Given the description of an element on the screen output the (x, y) to click on. 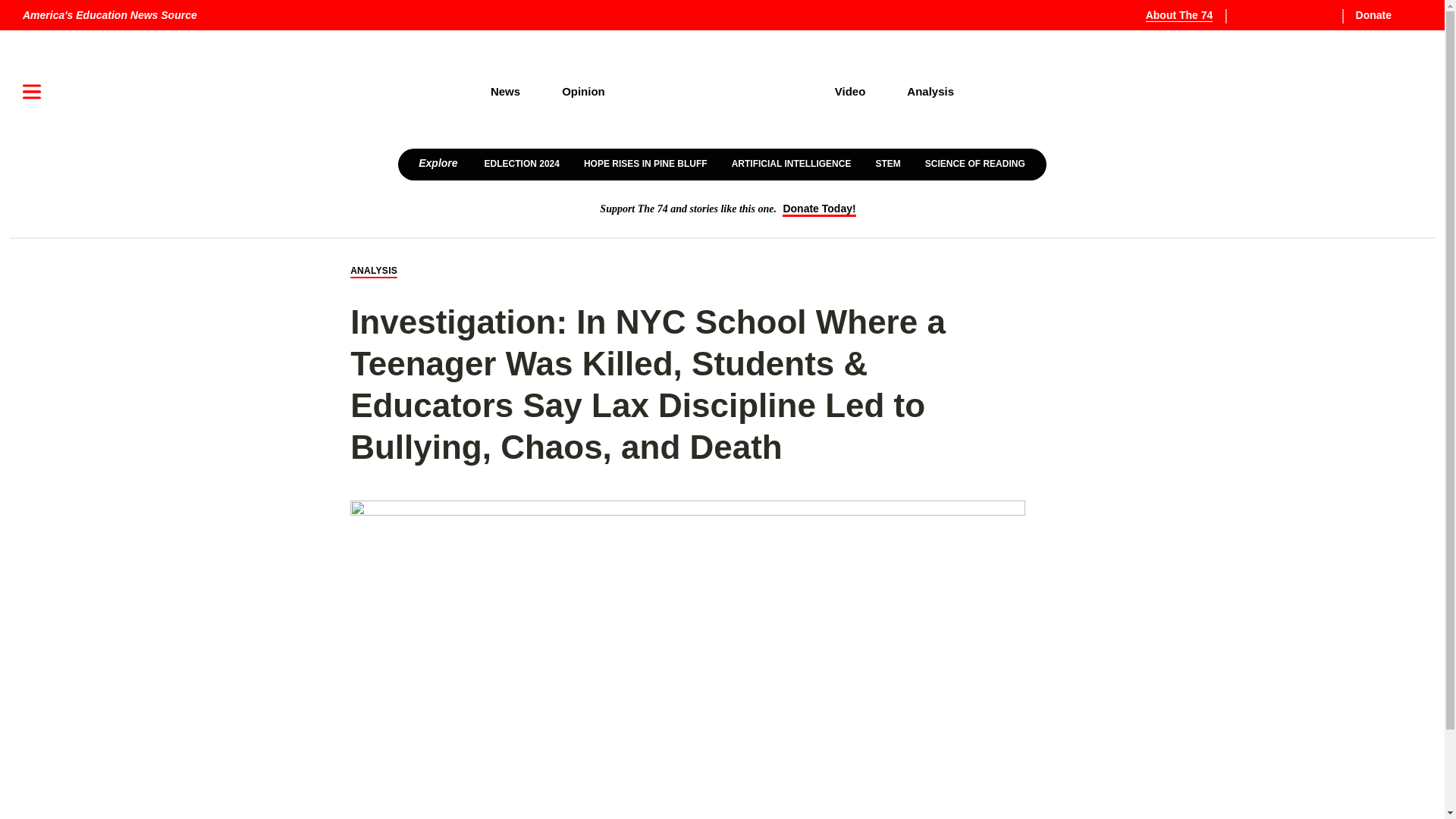
Donate (1385, 15)
America's Education News Source (109, 15)
About The 74 (1187, 15)
Home (719, 91)
News (504, 91)
Opinion (583, 91)
Analysis (930, 91)
Video (849, 91)
Submit (1389, 139)
